Given the description of an element on the screen output the (x, y) to click on. 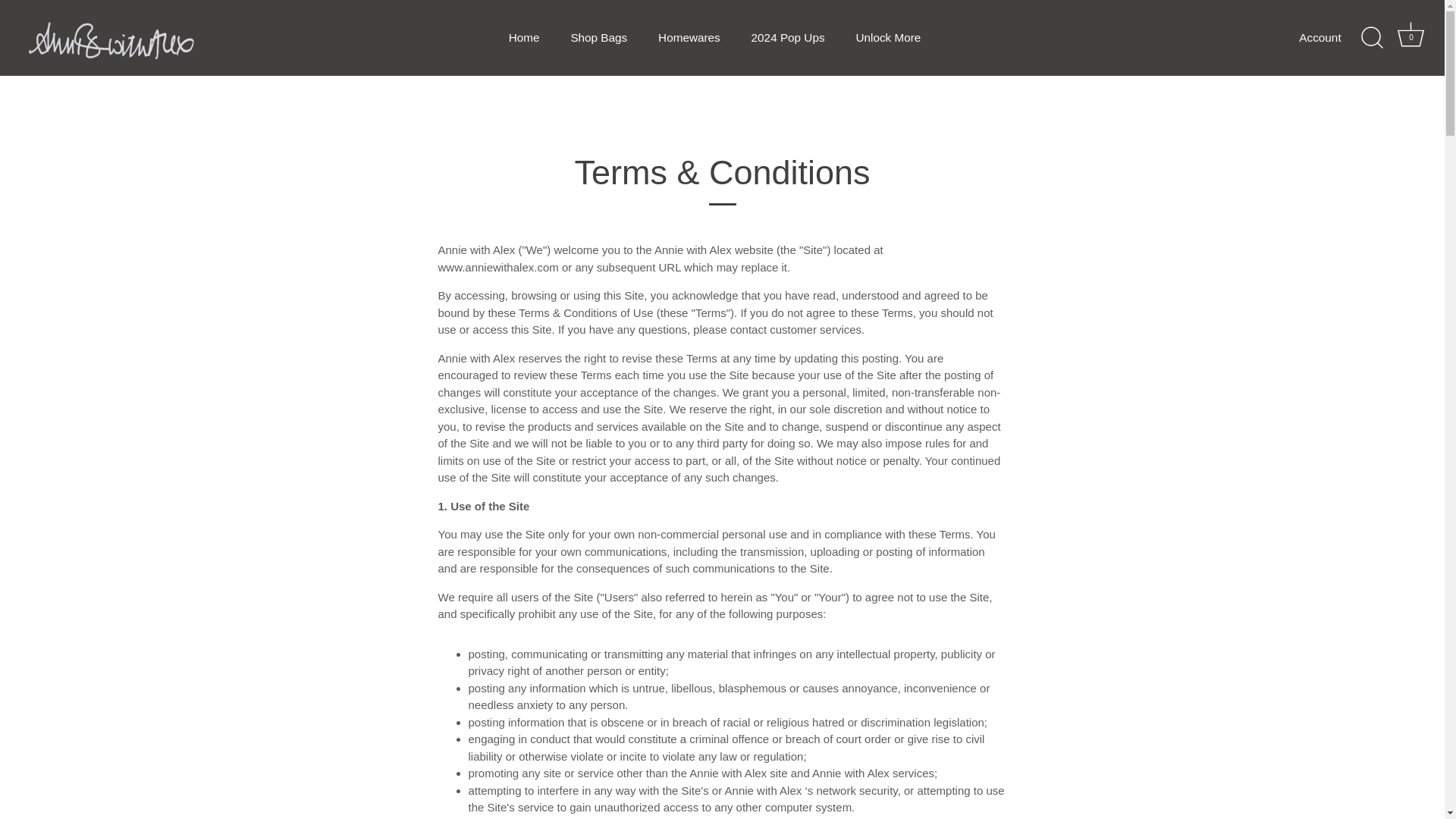
Account (1332, 37)
Shop Bags (599, 37)
Homewares (689, 37)
Cart (1410, 34)
Unlock More (1411, 37)
Home (887, 37)
2024 Pop Ups (524, 37)
